Given the description of an element on the screen output the (x, y) to click on. 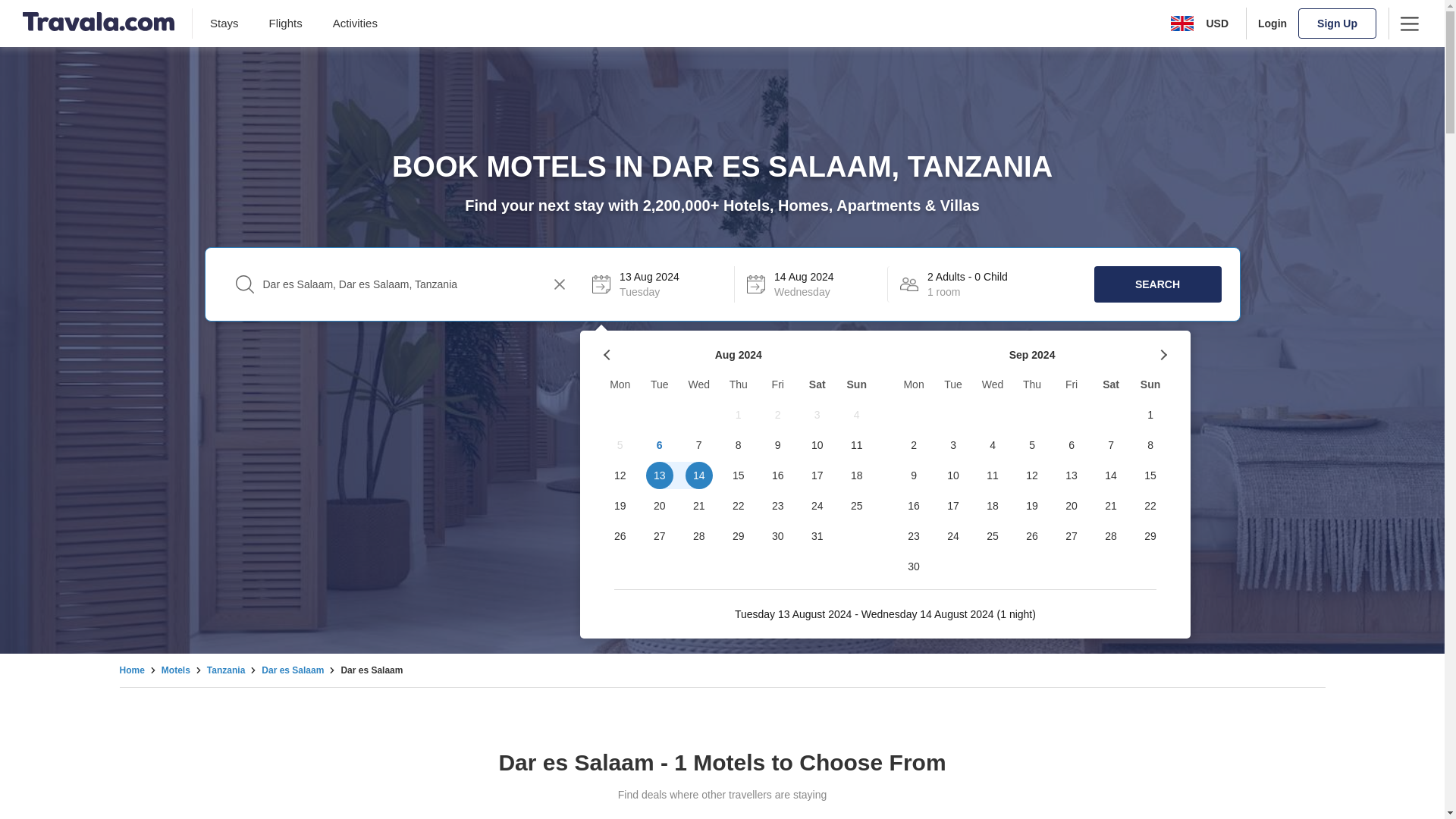
24 (817, 505)
22 (738, 505)
5 (619, 444)
Sign Up (1336, 23)
25 (856, 505)
19 (619, 505)
Flights (285, 22)
17 (817, 475)
15 (738, 475)
7 (699, 444)
